Given the description of an element on the screen output the (x, y) to click on. 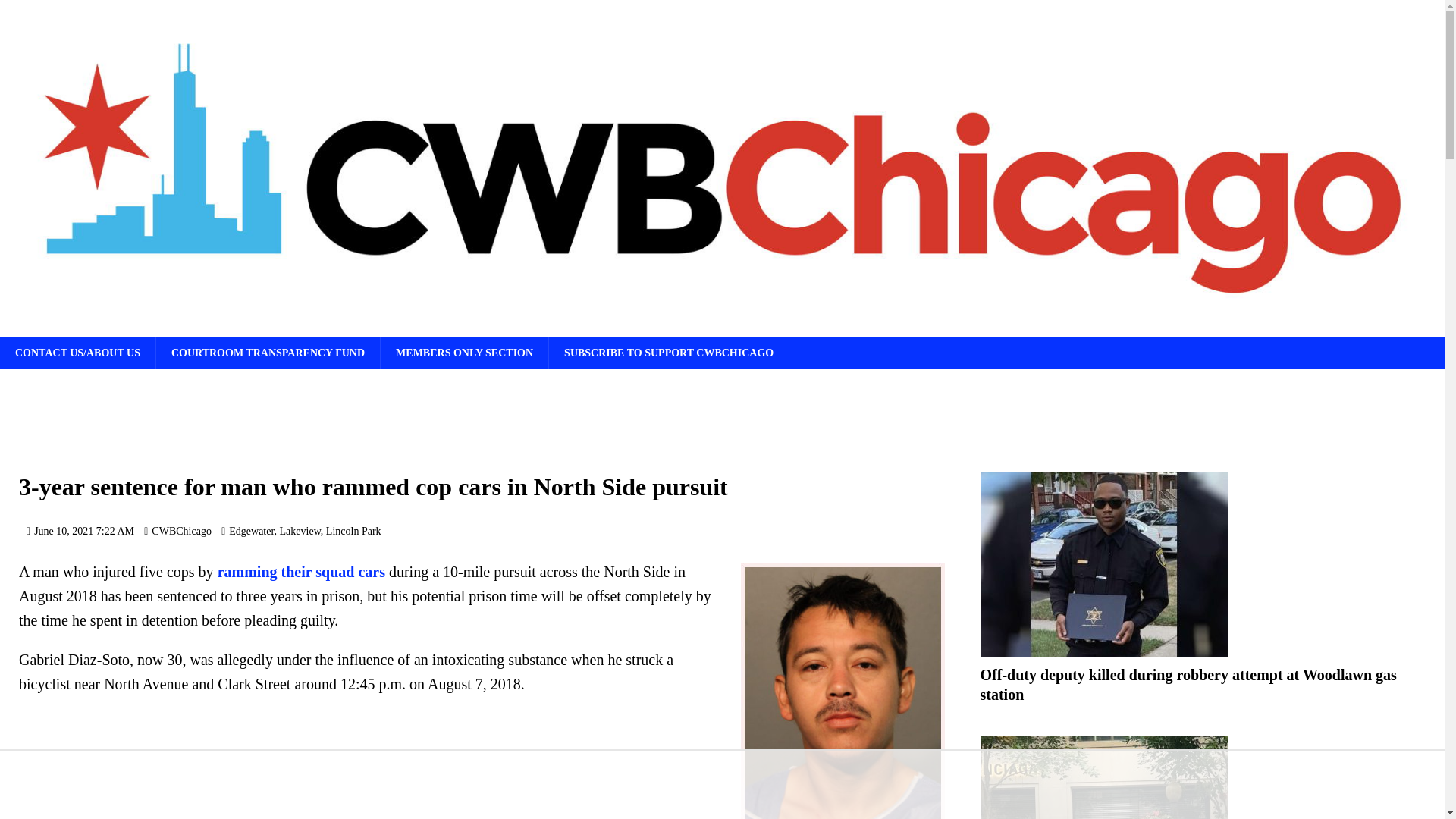
SUBSCRIBE TO SUPPORT CWBCHICAGO (668, 353)
CWBChicago (181, 531)
Lakeview (299, 531)
Edgewater (250, 531)
Lincoln Park (353, 531)
June 10, 2021 7:22 AM (83, 531)
MEMBERS ONLY SECTION (464, 353)
COURTROOM TRANSPARENCY FUND (267, 353)
ramming their squad cars (300, 571)
